Given the description of an element on the screen output the (x, y) to click on. 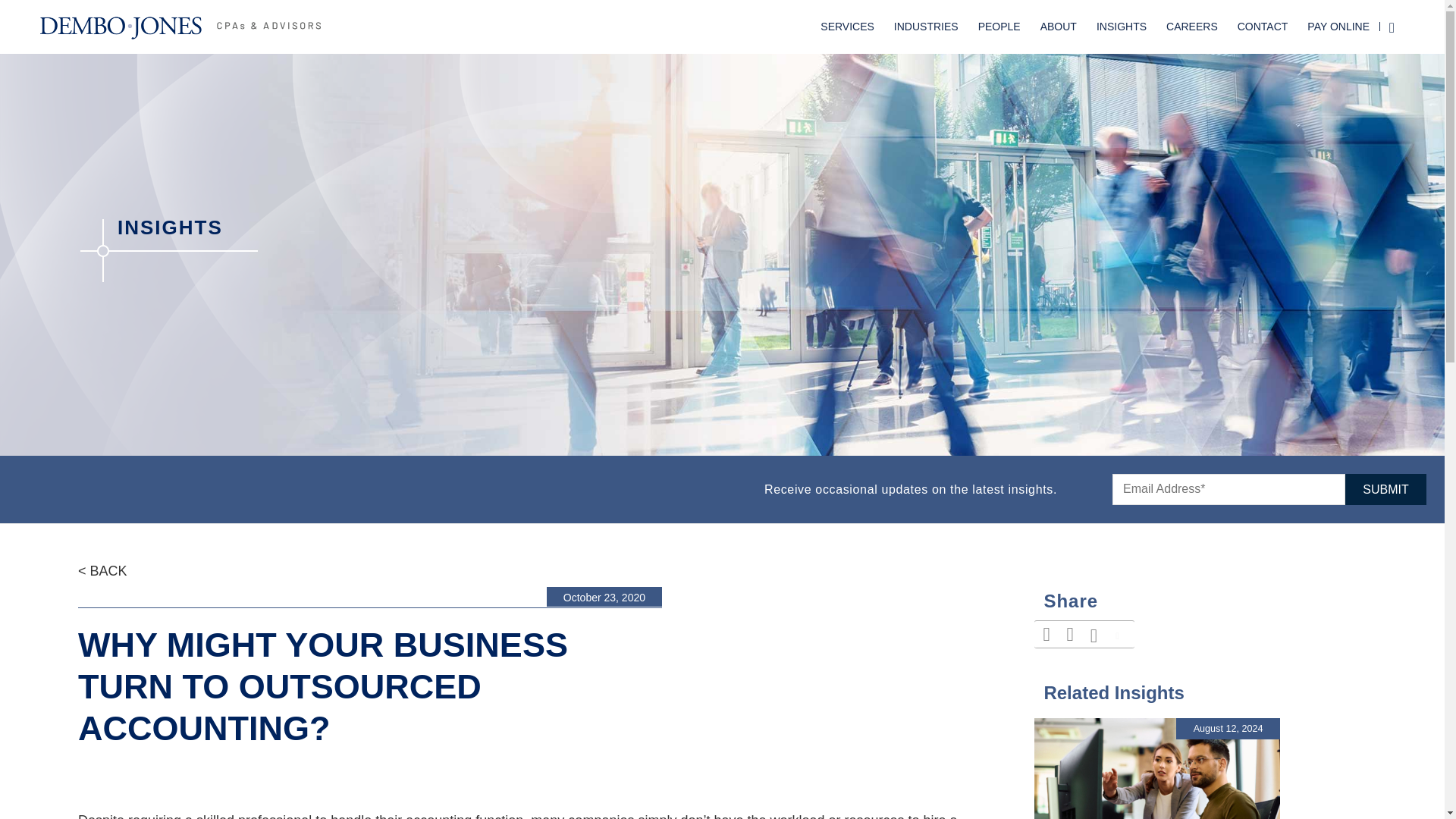
CAREERS (1191, 27)
SUBMIT (1385, 489)
INDUSTRIES (925, 27)
PEOPLE (999, 27)
INSIGHTS (1121, 27)
SERVICES (846, 27)
ABOUT (1058, 27)
SUBMIT (1385, 489)
PAY ONLINE (1337, 27)
CONTACT (1262, 27)
